Given the description of an element on the screen output the (x, y) to click on. 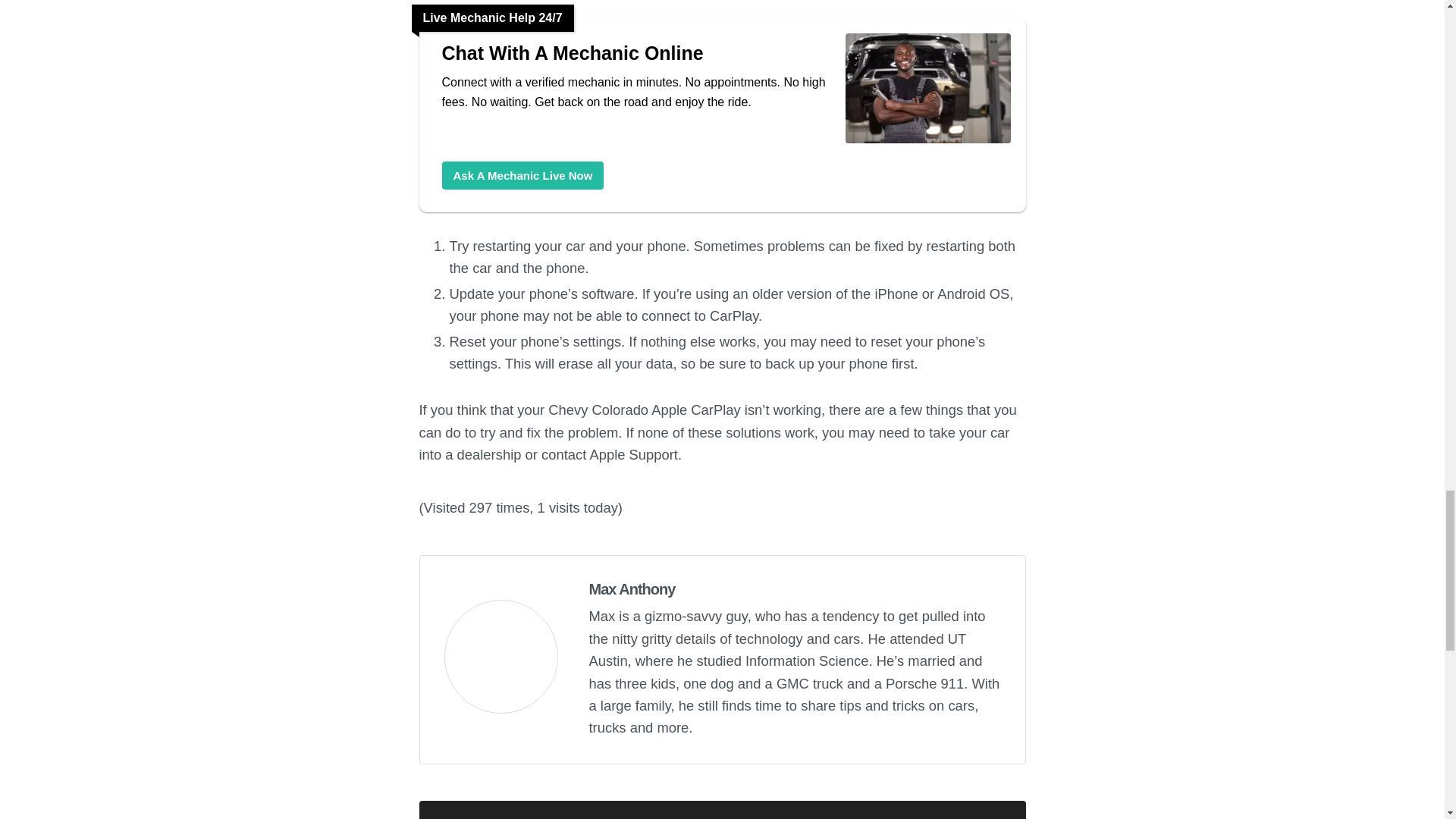
Chat With A Mechanic Online (522, 175)
Chat With A Mechanic Online (635, 52)
Chat With A Mechanic Online (635, 52)
Chat With A Mechanic Online (927, 141)
Ask A Mechanic Live Now (522, 175)
